Given the description of an element on the screen output the (x, y) to click on. 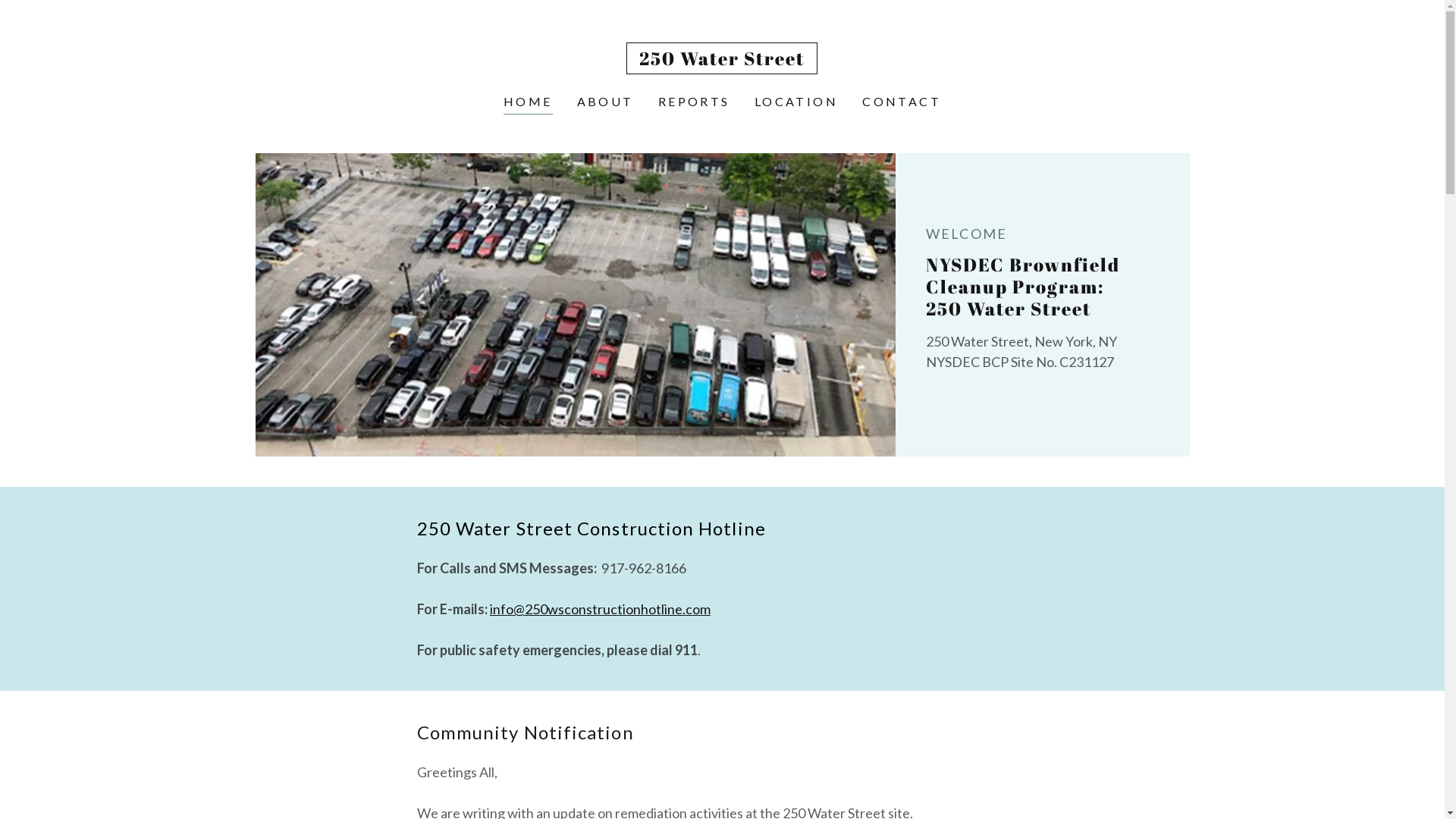
ABOUT Element type: text (605, 101)
LOCATION Element type: text (795, 101)
HOME Element type: text (527, 103)
info@250wsconstructionhotline.com Element type: text (599, 608)
REPORTS Element type: text (693, 101)
250 Water Street Element type: text (721, 59)
CONTACT Element type: text (901, 101)
